Given the description of an element on the screen output the (x, y) to click on. 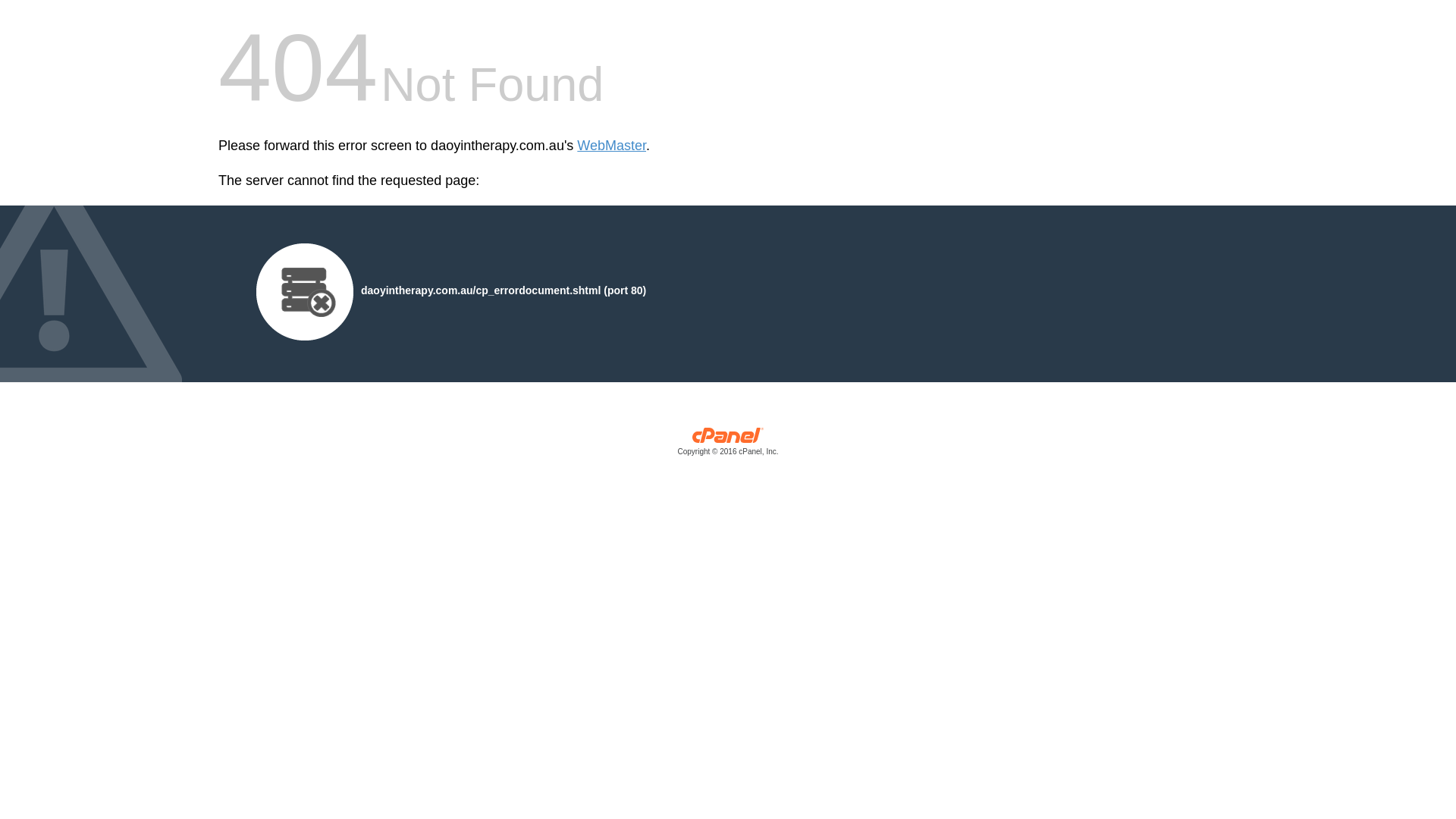
WebMaster Element type: text (611, 145)
